Given the description of an element on the screen output the (x, y) to click on. 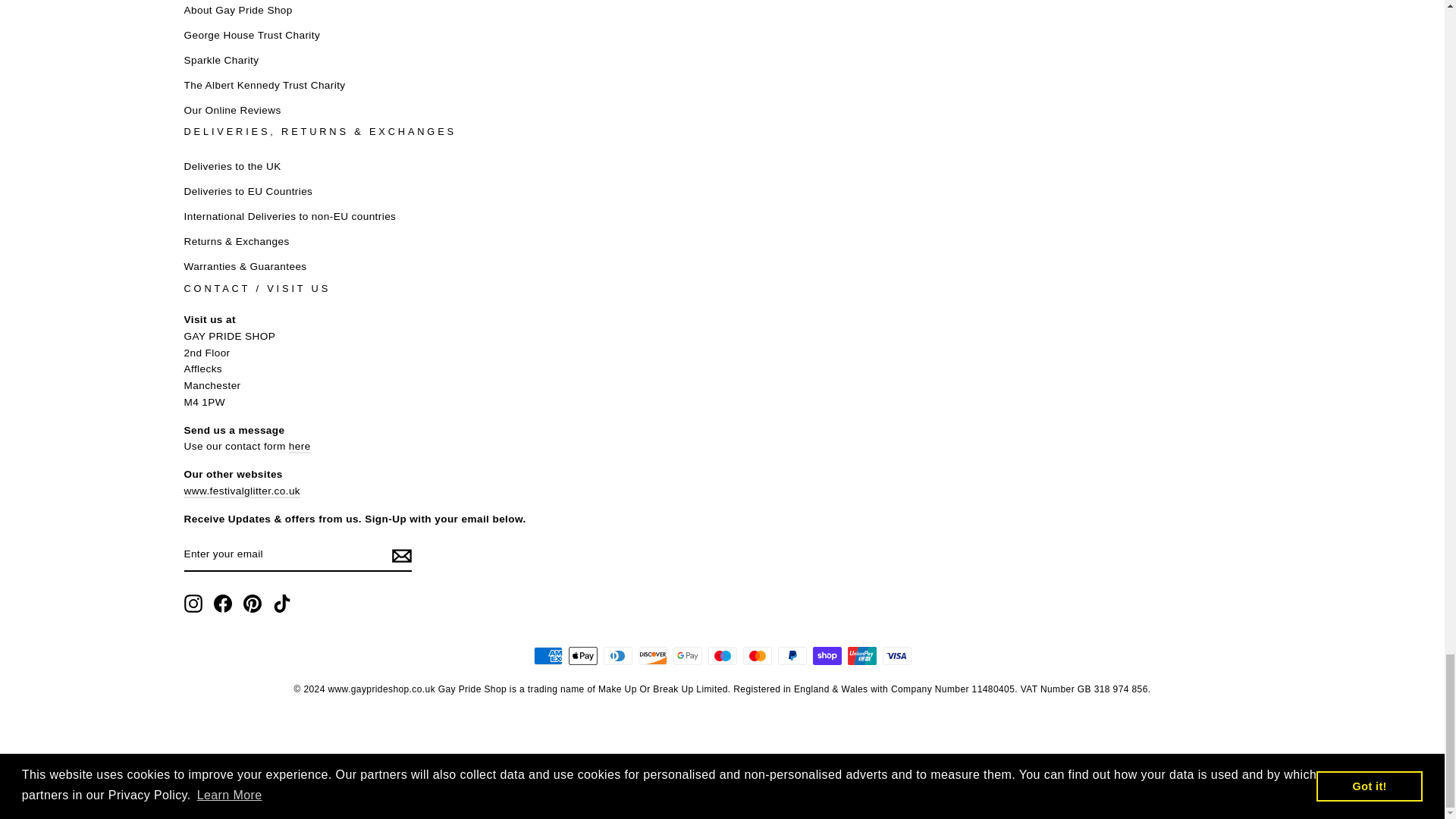
www.gayprideshop.co.uk on Instagram (192, 603)
Contact us (299, 446)
www.gayprideshop.co.uk on Facebook (222, 603)
